Given the description of an element on the screen output the (x, y) to click on. 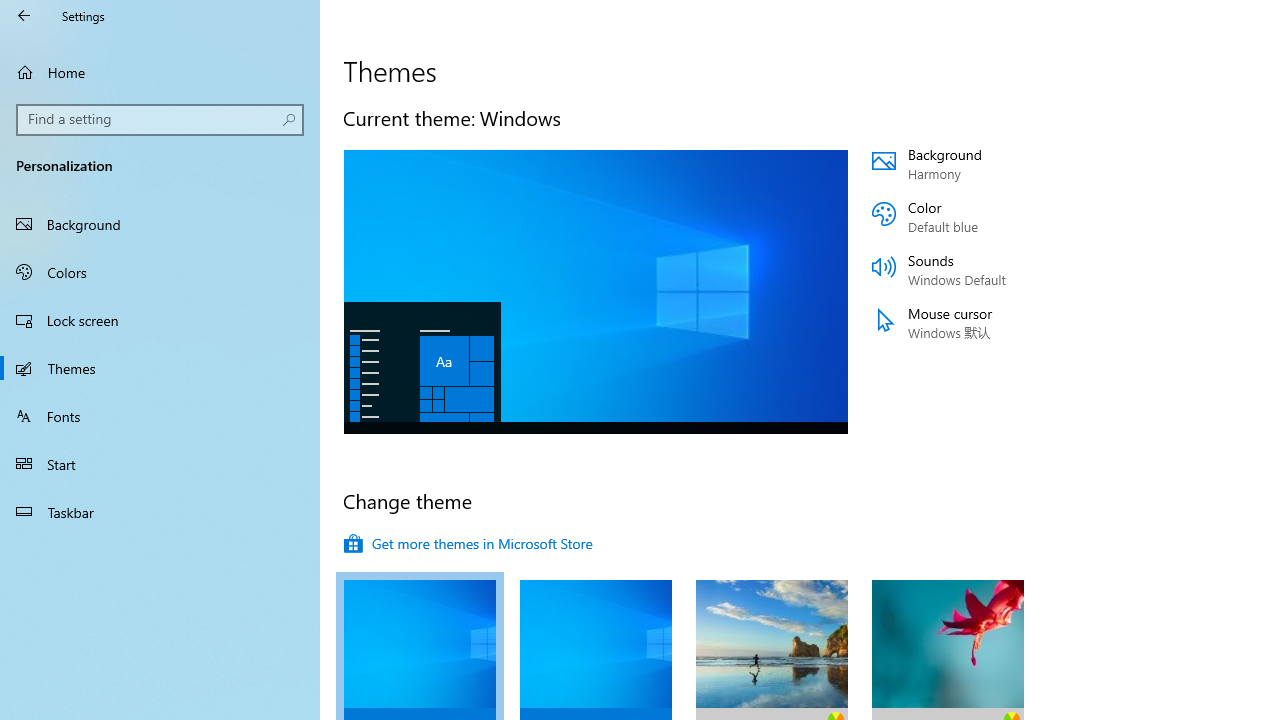
Fonts (160, 415)
Background (160, 223)
Color Default blue (991, 217)
Sounds Windows Default (991, 270)
Colors (160, 271)
Lock screen (160, 319)
Themes (160, 367)
Home (160, 71)
Get more themes in Microsoft Store (468, 543)
Back (24, 15)
Taskbar (160, 511)
Search box, Find a setting (160, 119)
Background Harmony (991, 164)
